Given the description of an element on the screen output the (x, y) to click on. 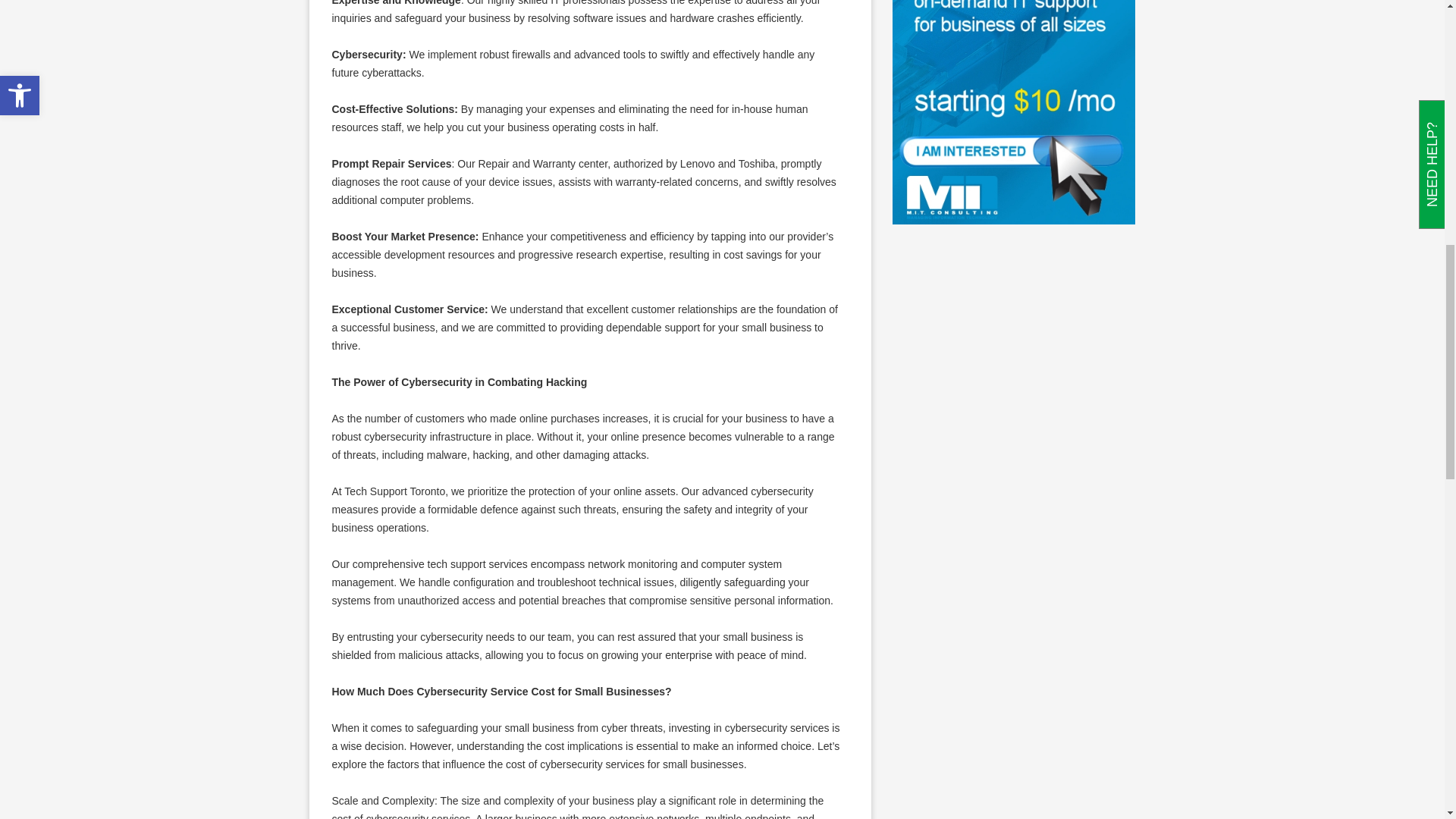
tech support business toronto side banner (1013, 112)
